Given the description of an element on the screen output the (x, y) to click on. 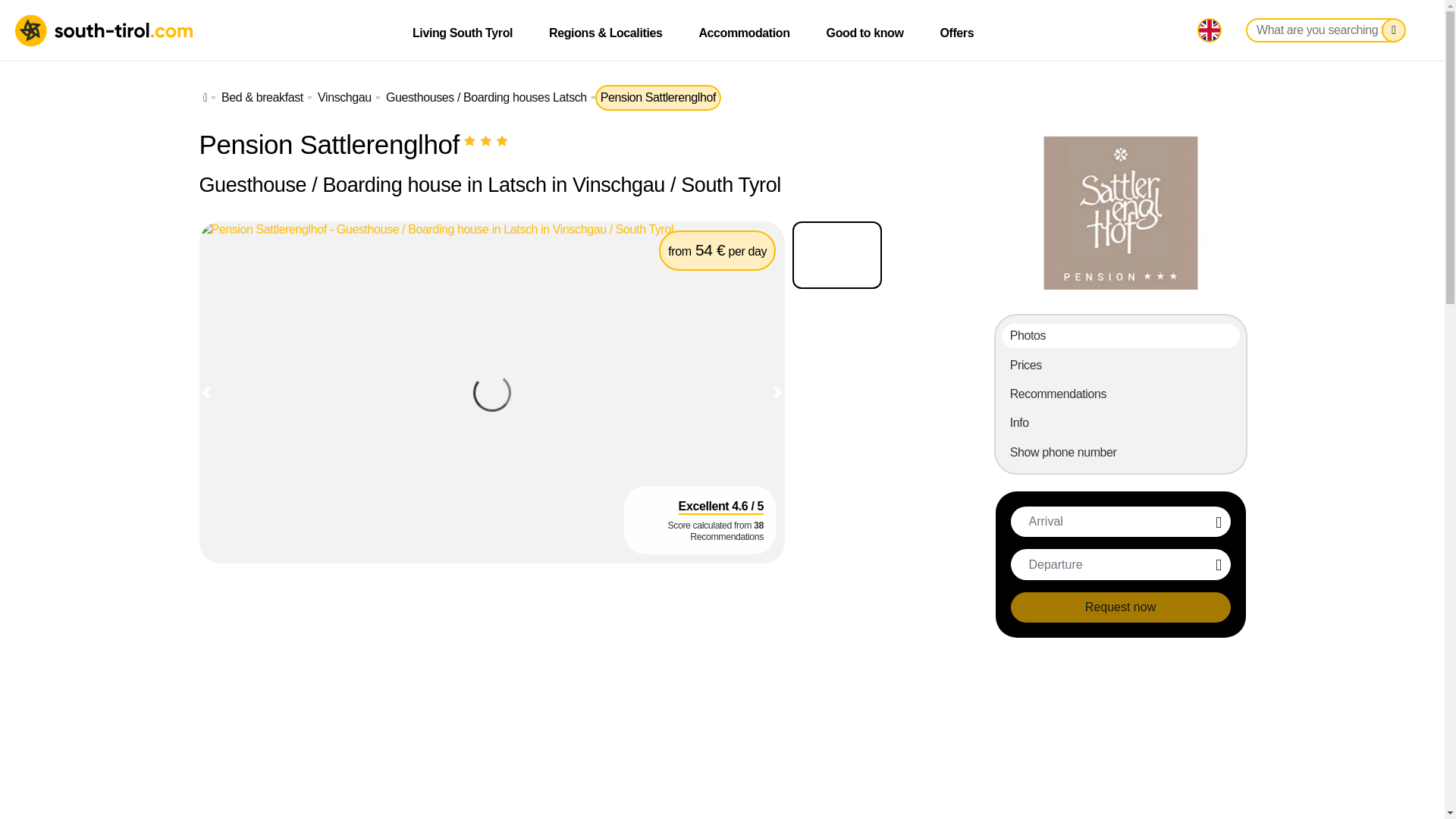
Holidays in South Tyrol (104, 30)
